Given the description of an element on the screen output the (x, y) to click on. 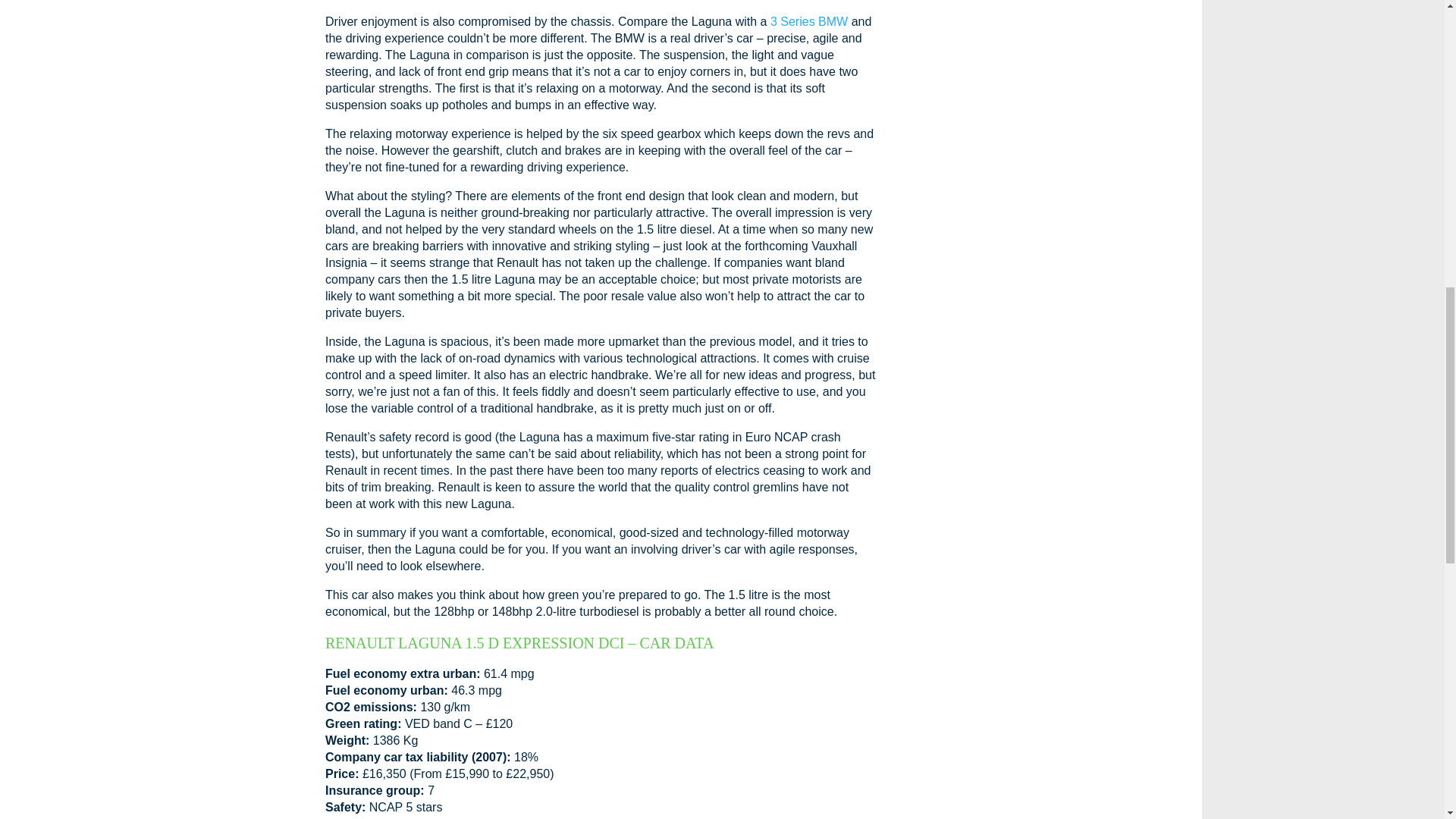
BMW 3 Series (807, 21)
